Given the description of an element on the screen output the (x, y) to click on. 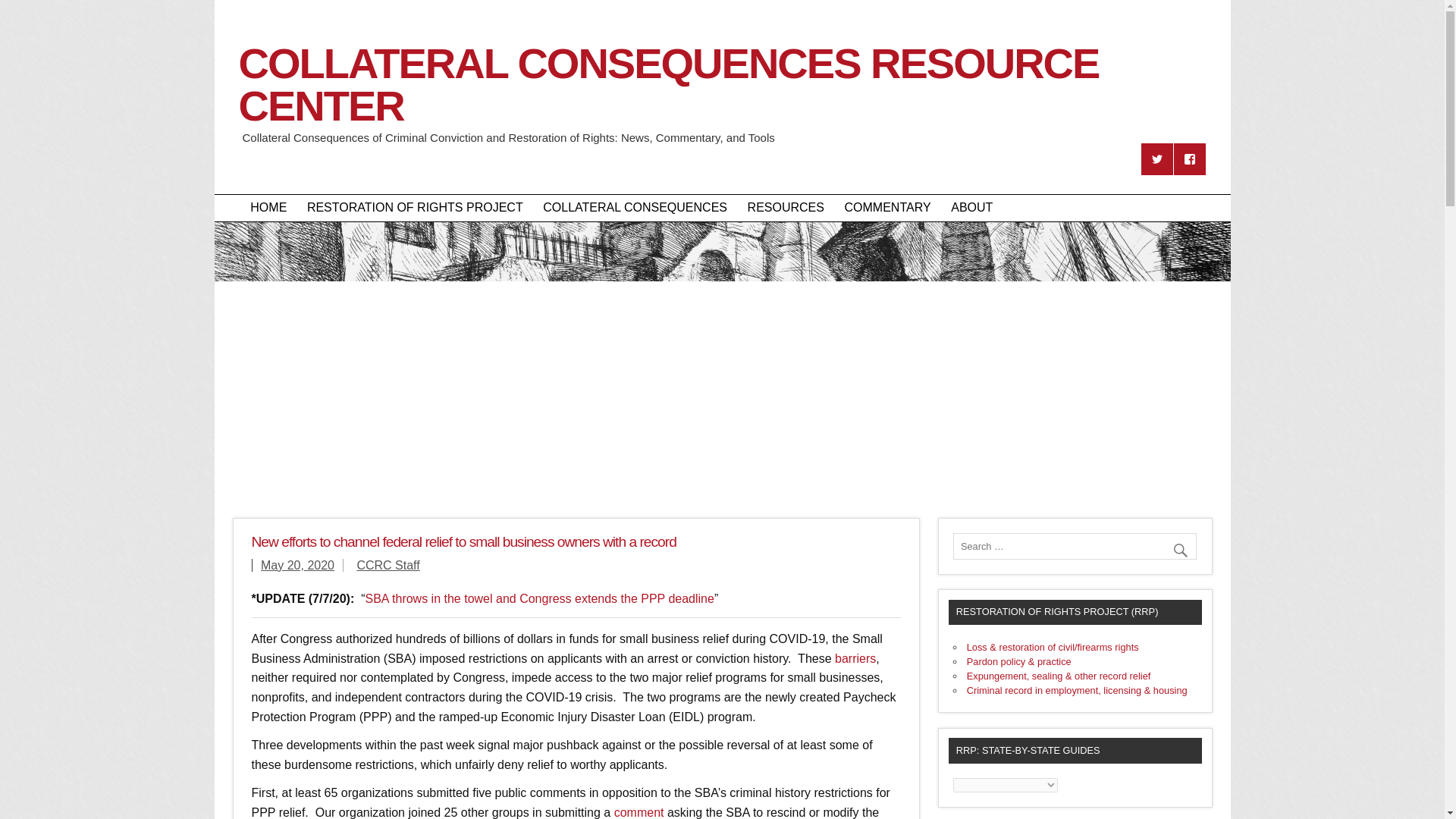
COLLATERAL CONSEQUENCES RESOURCE CENTER (721, 115)
COLLATERAL CONSEQUENCES (634, 207)
HOME (269, 207)
RESTORATION OF RIGHTS PROJECT (414, 207)
Collateral Consequences Resource Center (721, 115)
RESOURCES (786, 207)
View all posts by CCRC Staff (387, 564)
8:00 am (297, 564)
